Given the description of an element on the screen output the (x, y) to click on. 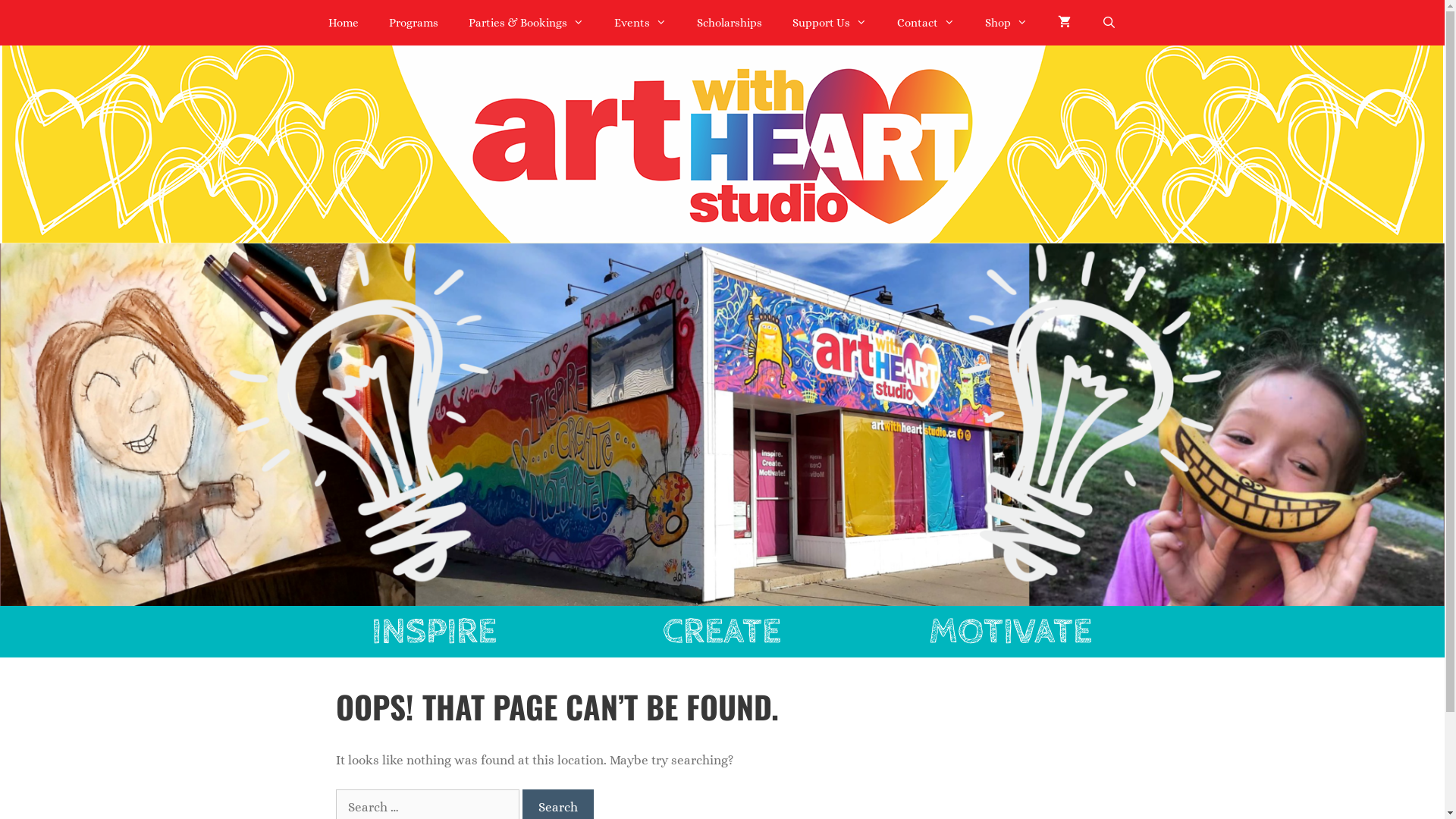
Parties & Bookings Element type: text (526, 22)
Home Element type: text (343, 22)
Programs Element type: text (413, 22)
View your shopping cart Element type: hover (1063, 22)
Events Element type: text (640, 22)
Support Us Element type: text (829, 22)
Contact Element type: text (925, 22)
Scholarships Element type: text (729, 22)
Shop Element type: text (1005, 22)
